Given the description of an element on the screen output the (x, y) to click on. 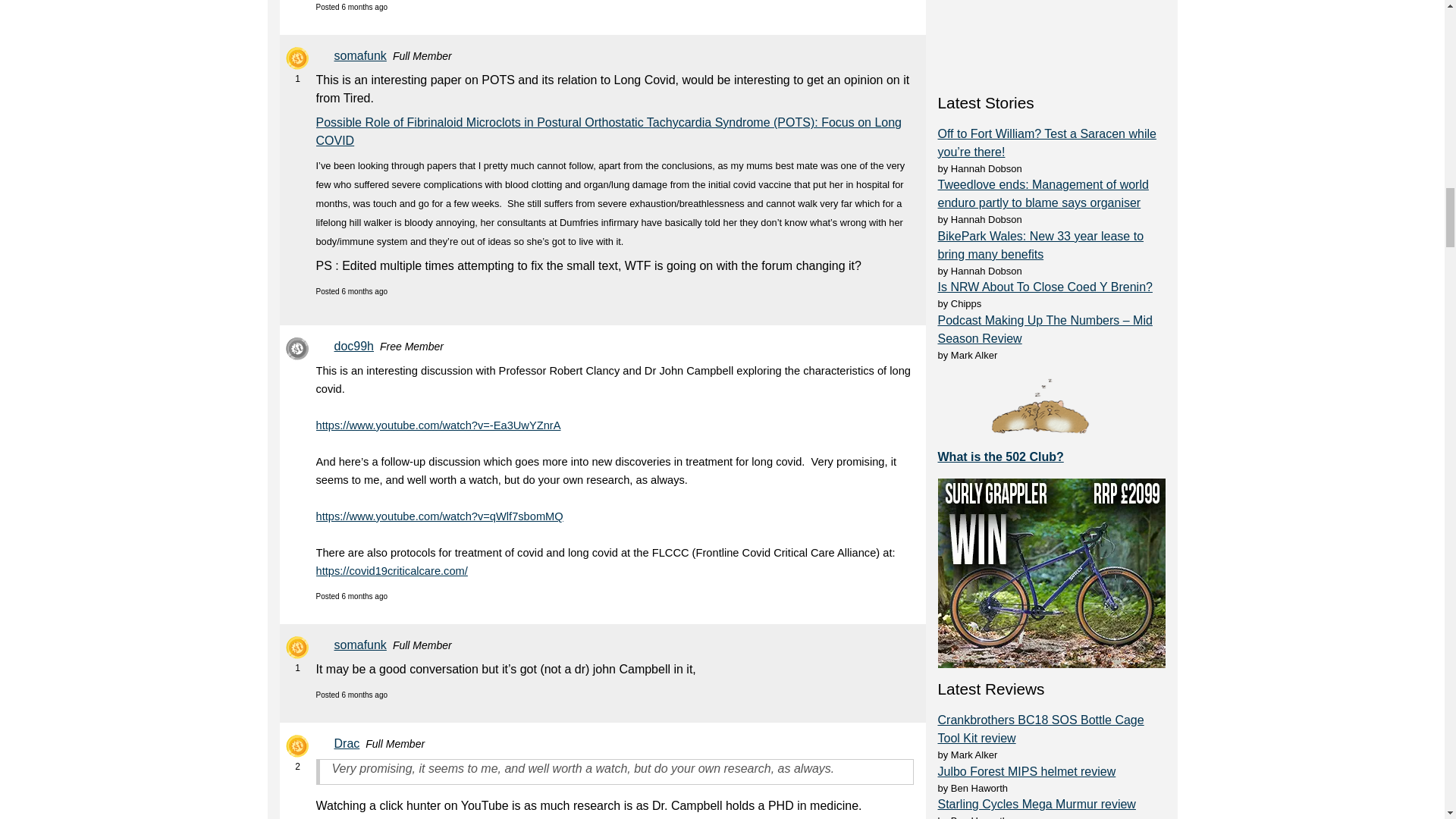
View somafunk's profile (362, 645)
View somafunk's profile (362, 55)
View doc99h's profile (356, 346)
View Drac's profile (349, 743)
